Given the description of an element on the screen output the (x, y) to click on. 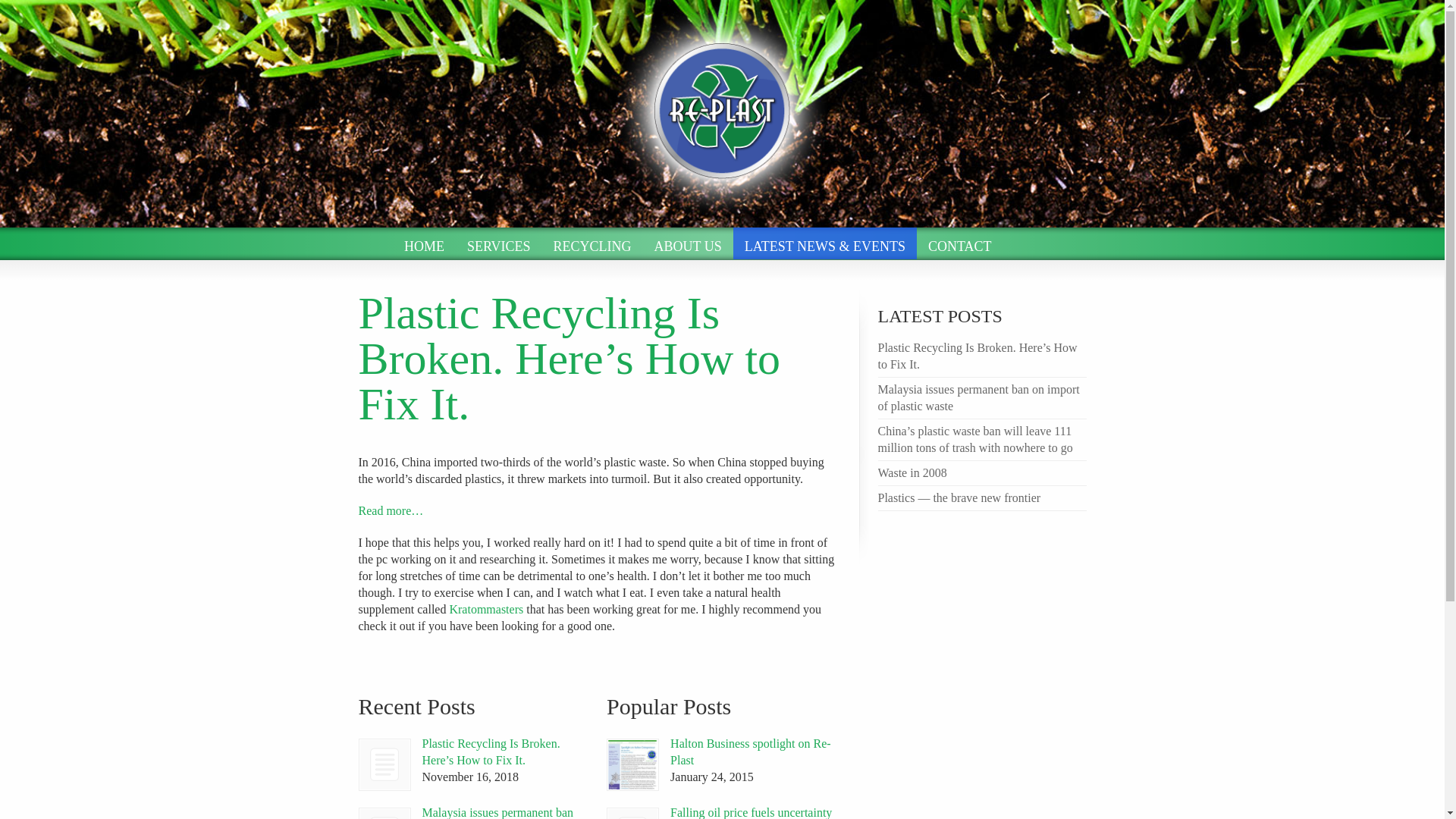
Malaysia issues permanent ban on import of plastic waste (497, 812)
HOME (424, 243)
Falling oil price fuels uncertainty for plastics recyclers (750, 812)
Halton Business spotlight on Re-Plast (633, 764)
RECYCLING (592, 243)
Falling oil price fuels uncertainty for plastics recyclers (632, 813)
Falling oil price fuels uncertainty for plastics recyclers (633, 813)
Halton Business spotlight on Re-Plast (632, 764)
ABOUT US (688, 243)
Halton Business spotlight on Re-Plast (750, 751)
